Given the description of an element on the screen output the (x, y) to click on. 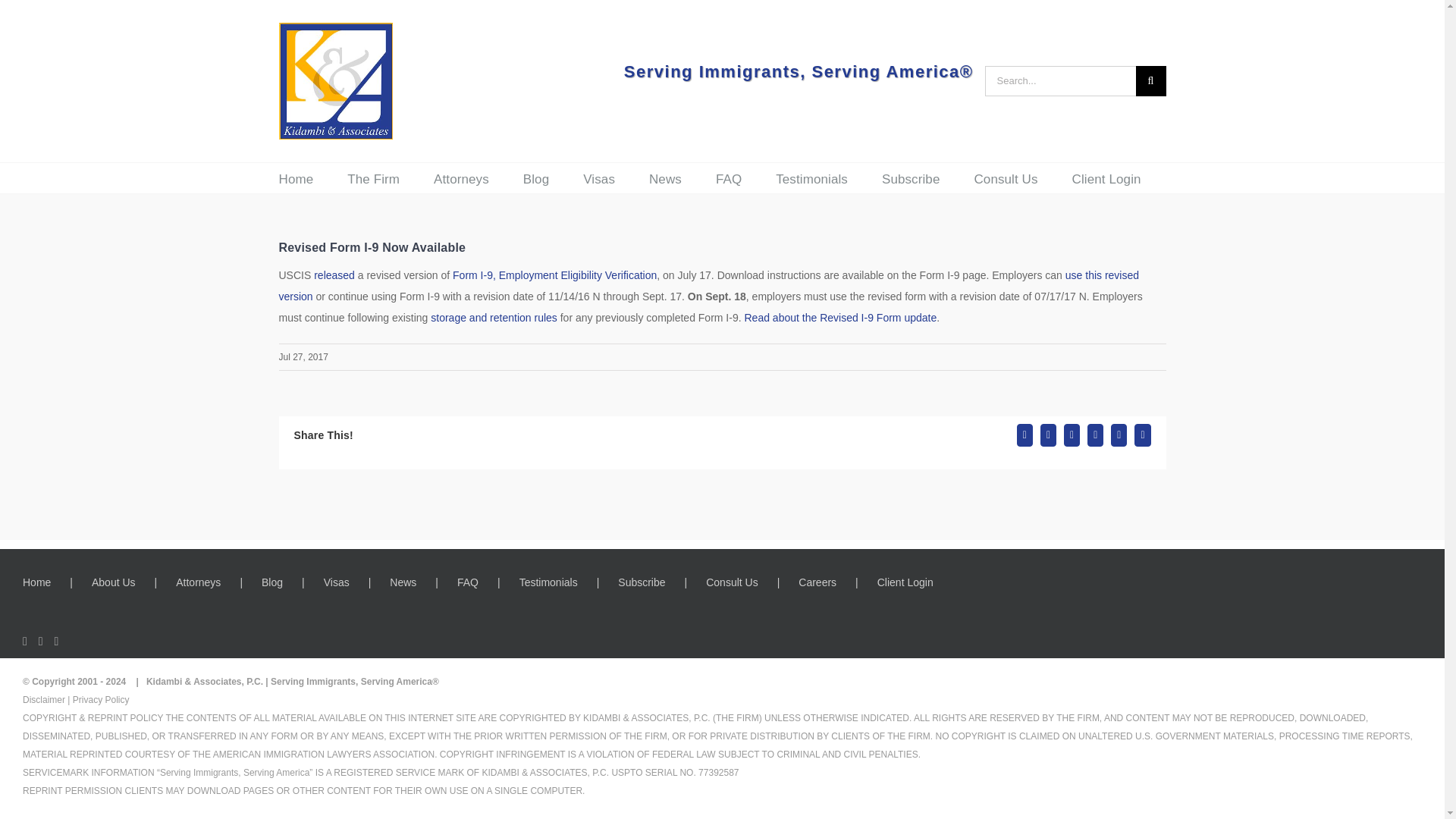
The Firm (372, 177)
Home (296, 177)
Visas (598, 177)
Attorneys (461, 177)
